Given the description of an element on the screen output the (x, y) to click on. 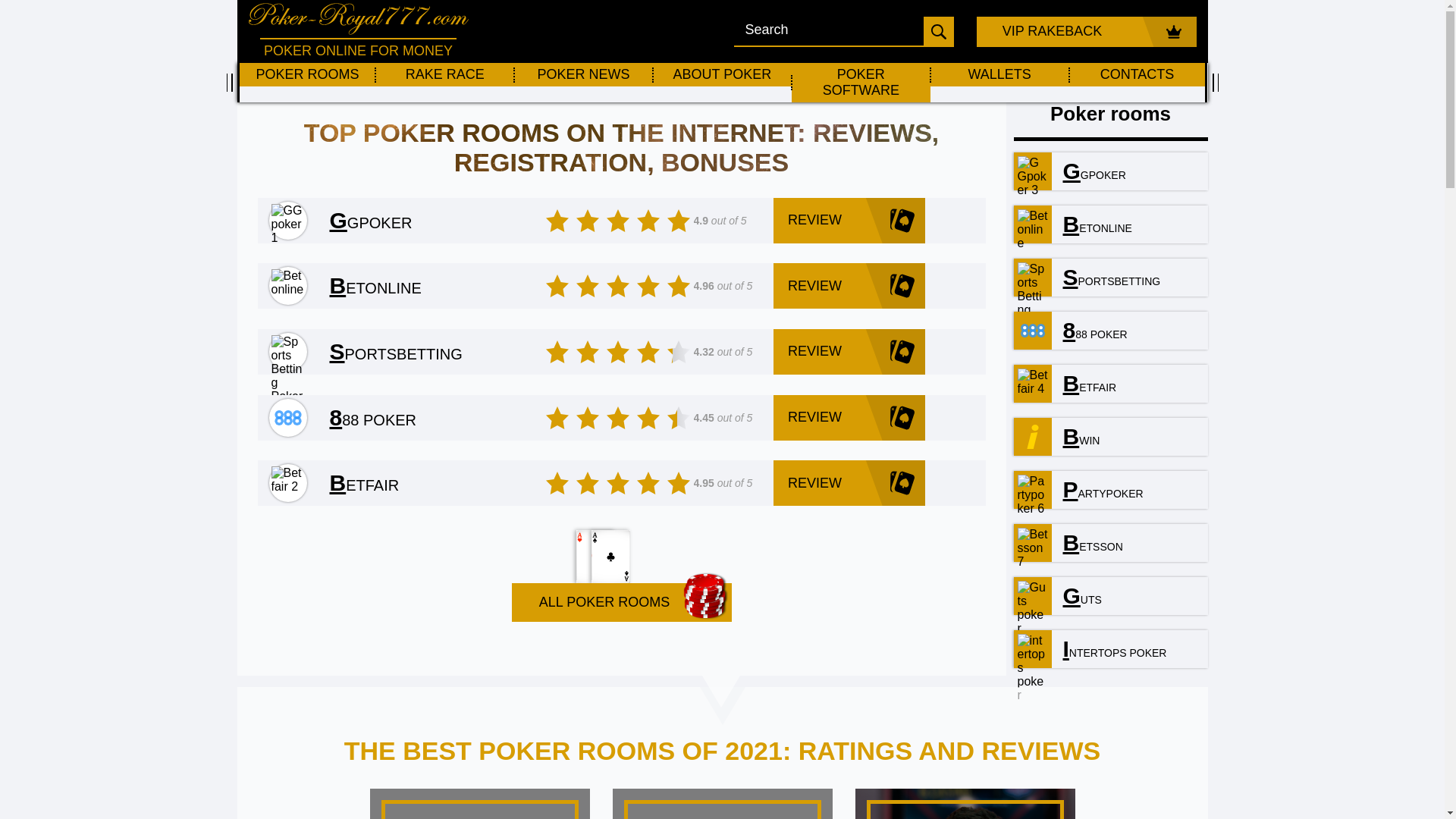
POKER SOFTWARE (861, 82)
BWIN (1075, 436)
SPORTSBETTING (1105, 277)
888 Poker 9 (1032, 330)
Betfair 5 (287, 479)
REVIEW (848, 285)
POKER ROOMS (307, 74)
POKER NEWS (582, 74)
Betfair 10 (1032, 381)
RAKE RACE (444, 74)
